Given the description of an element on the screen output the (x, y) to click on. 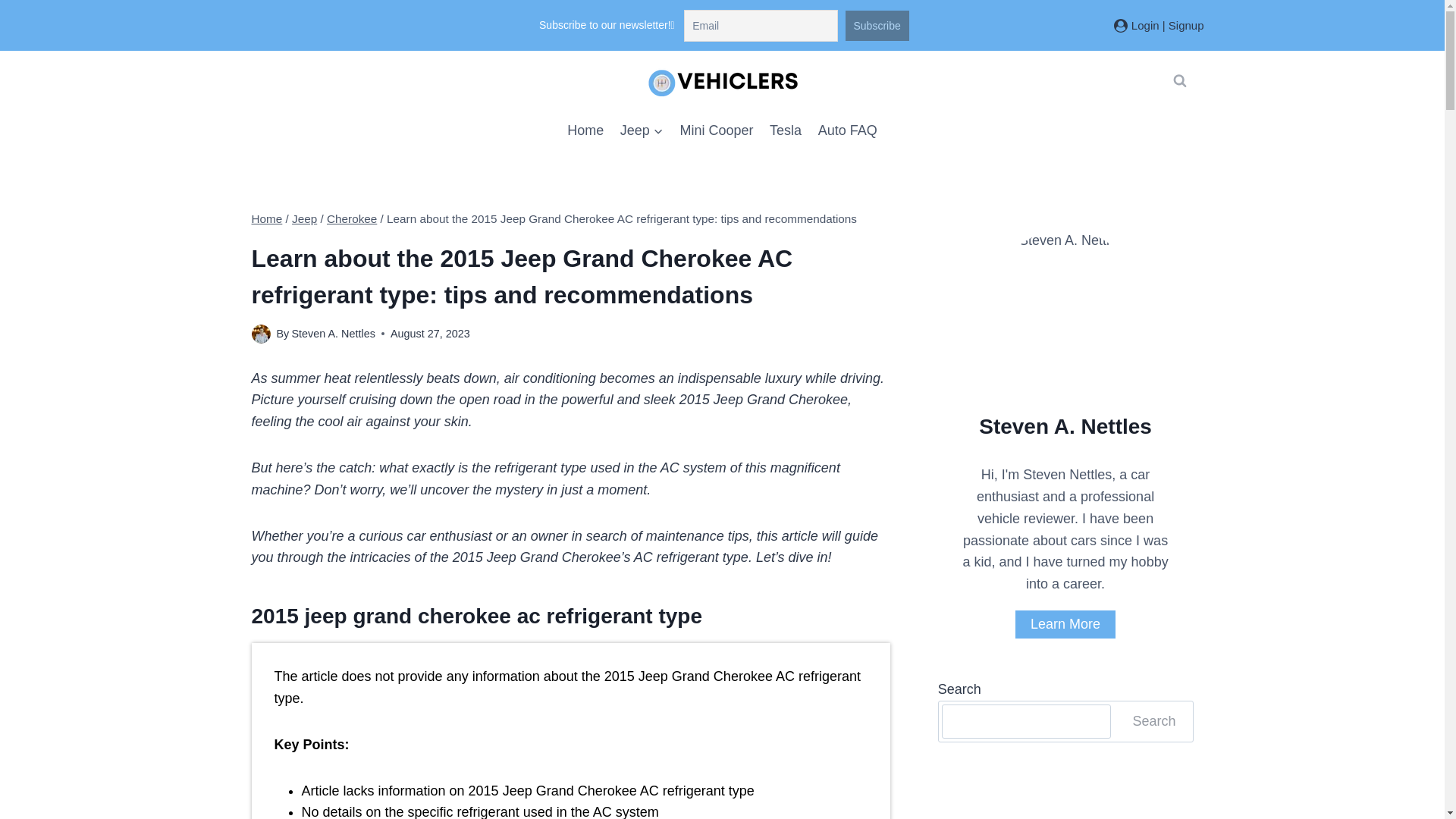
Subscribe (876, 25)
Jeep (304, 218)
Steven A. Nettles (332, 333)
Cherokee (351, 218)
Home (585, 130)
Jeep (641, 130)
Home (266, 218)
Auto FAQ (847, 130)
Tesla (785, 130)
Mini Cooper (716, 130)
Subscribe (876, 25)
